Given the description of an element on the screen output the (x, y) to click on. 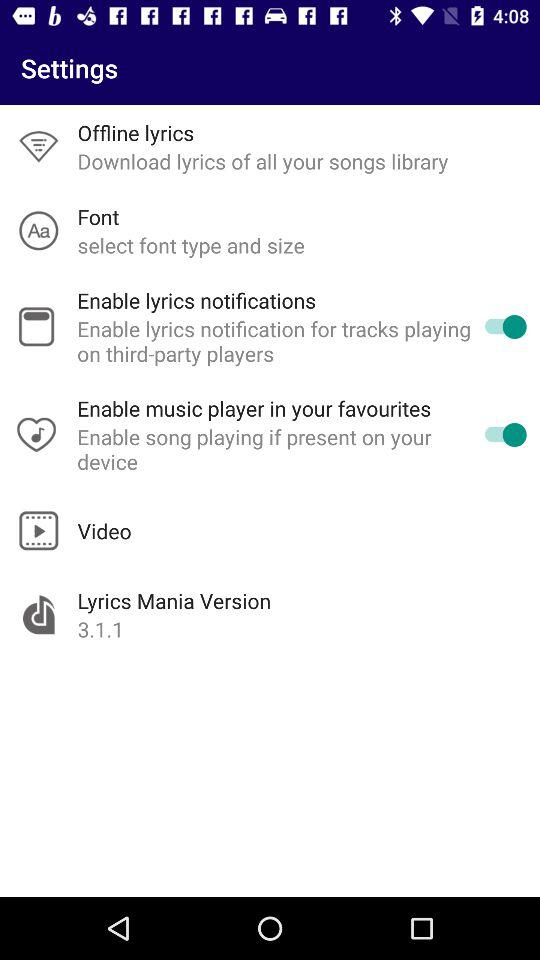
click the lyrics mania version app (174, 600)
